Given the description of an element on the screen output the (x, y) to click on. 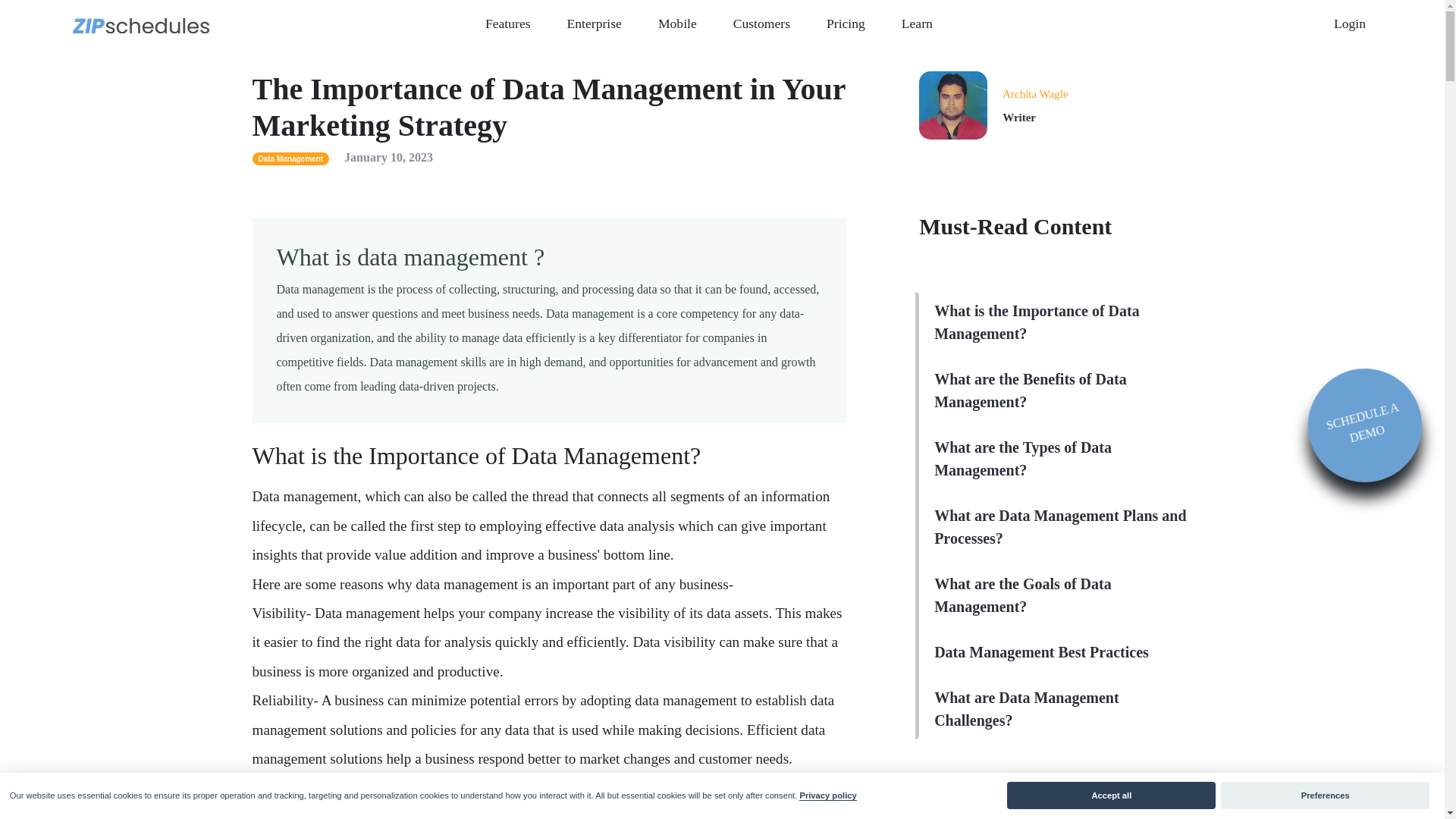
Learn (917, 23)
Mobile (677, 23)
Login (1349, 23)
Enterprise (593, 23)
Pricing (845, 23)
Features (508, 23)
Customers (761, 23)
